Given the description of an element on the screen output the (x, y) to click on. 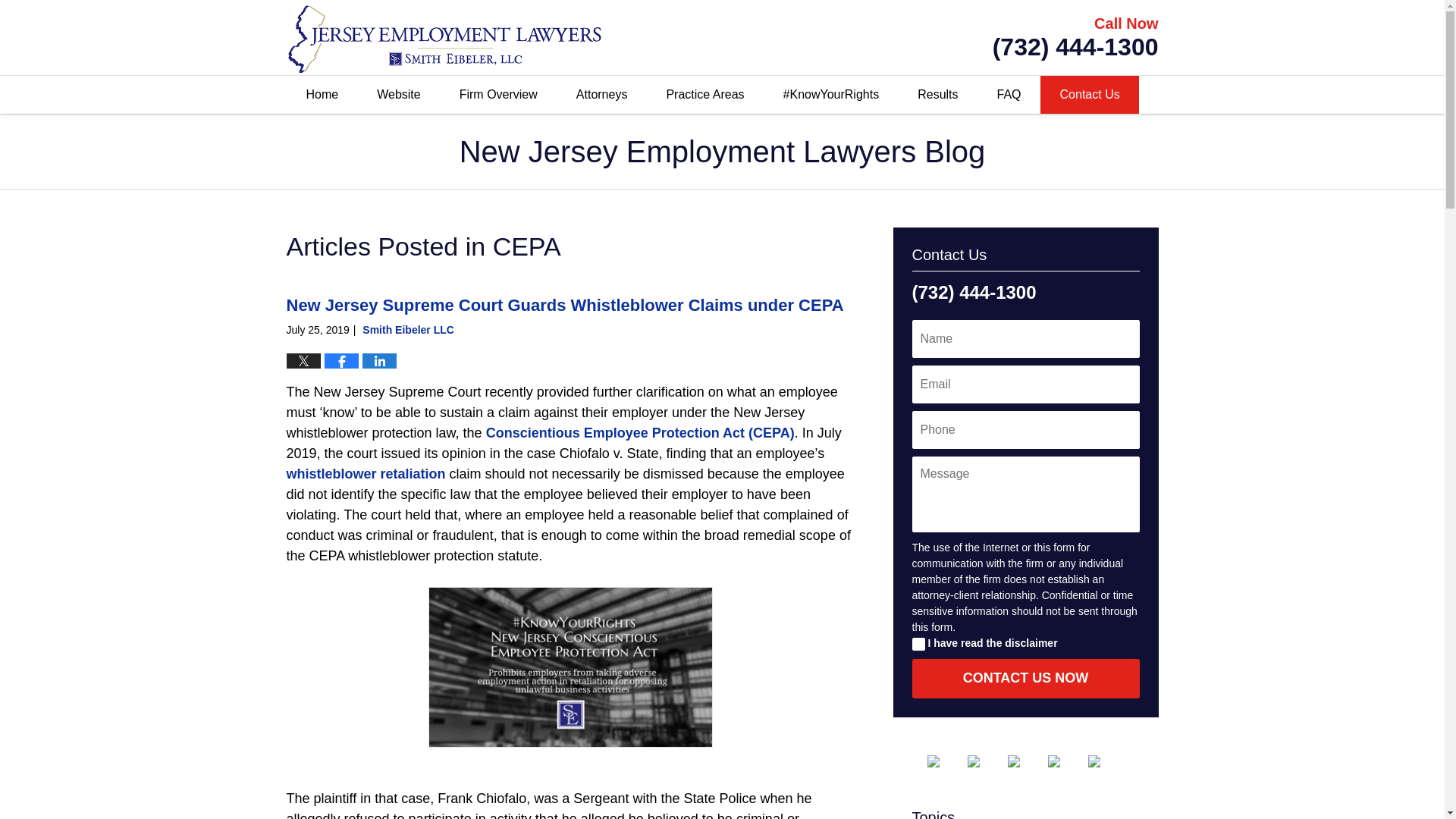
FAQ (1008, 94)
whistleblower retaliation (365, 473)
Smith Eibeler LLC (408, 329)
Practice Areas (704, 94)
Results (937, 94)
Firm Overview (497, 94)
Attorneys (601, 94)
Home (322, 94)
